Given the description of an element on the screen output the (x, y) to click on. 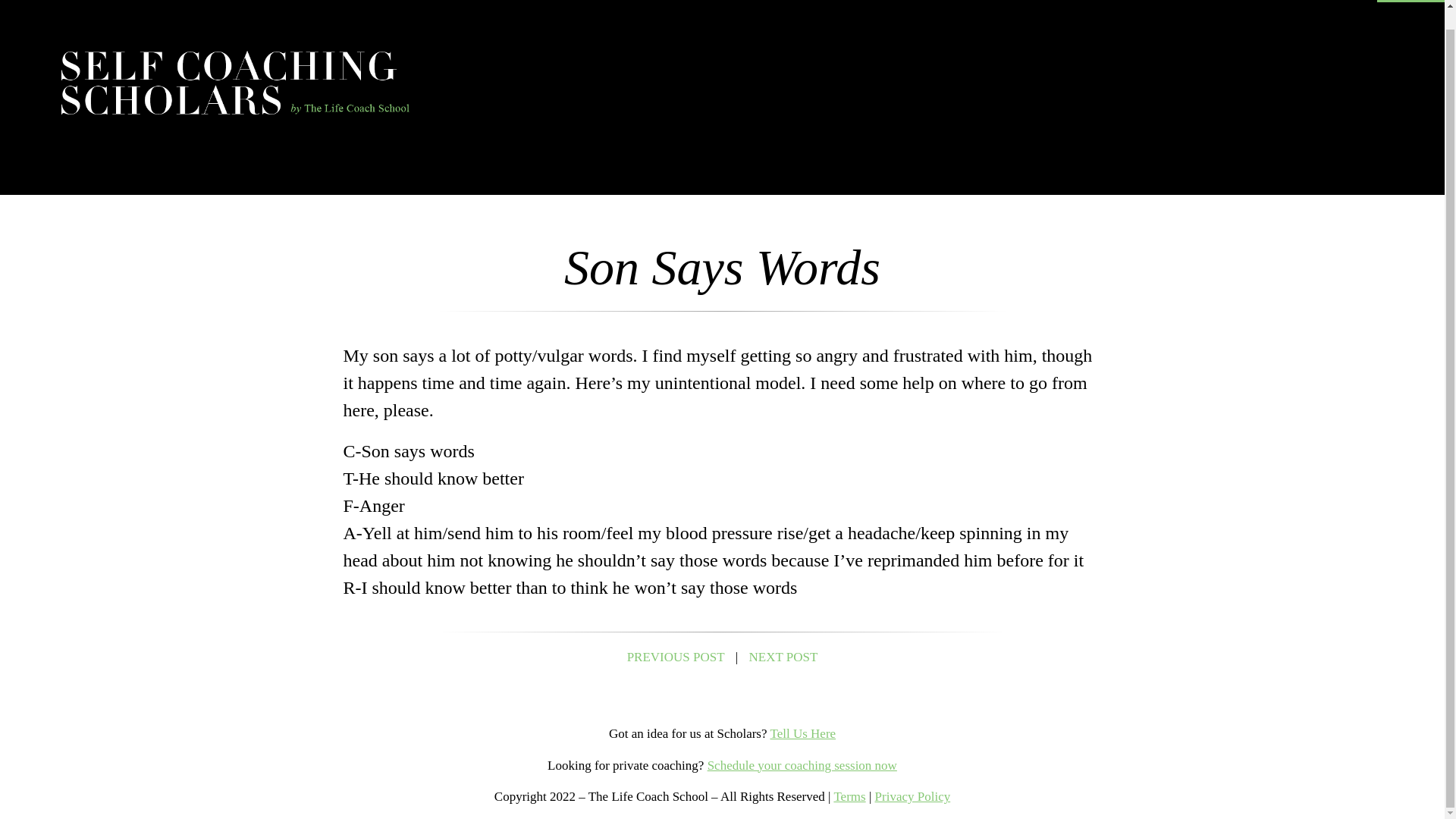
Terms (848, 796)
Tell Us Here (802, 733)
NEXT POST (783, 657)
Privacy Policy (912, 796)
Schedule your coaching session now (801, 765)
PREVIOUS POST (676, 657)
